Given the description of an element on the screen output the (x, y) to click on. 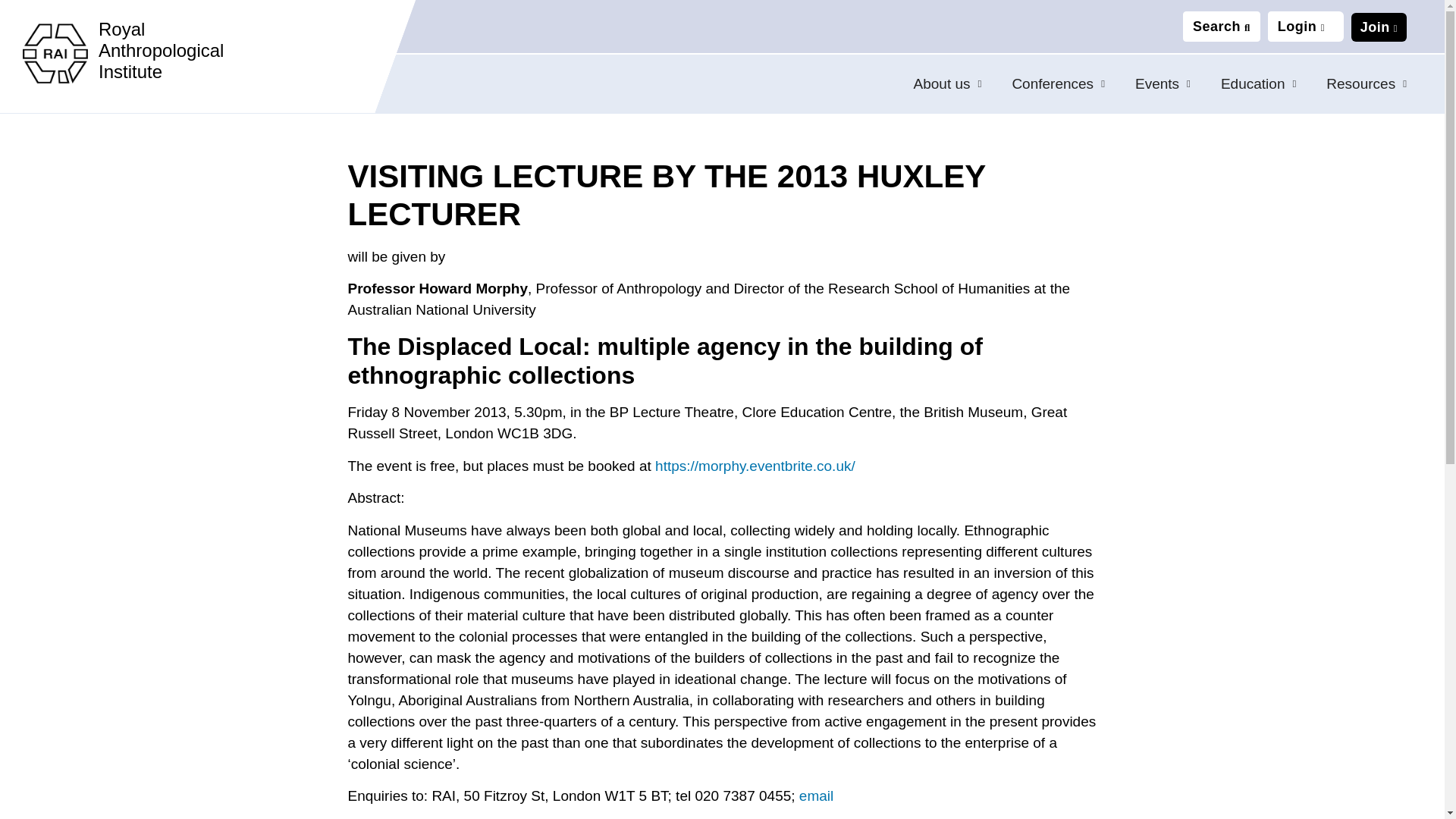
Join (1378, 27)
Education (1258, 83)
Events (1162, 83)
About us (947, 83)
Click to Authenticate at NomadIT (1301, 26)
Resources (1366, 83)
Conferences (1057, 83)
Search (1221, 26)
Login (1301, 26)
